Given the description of an element on the screen output the (x, y) to click on. 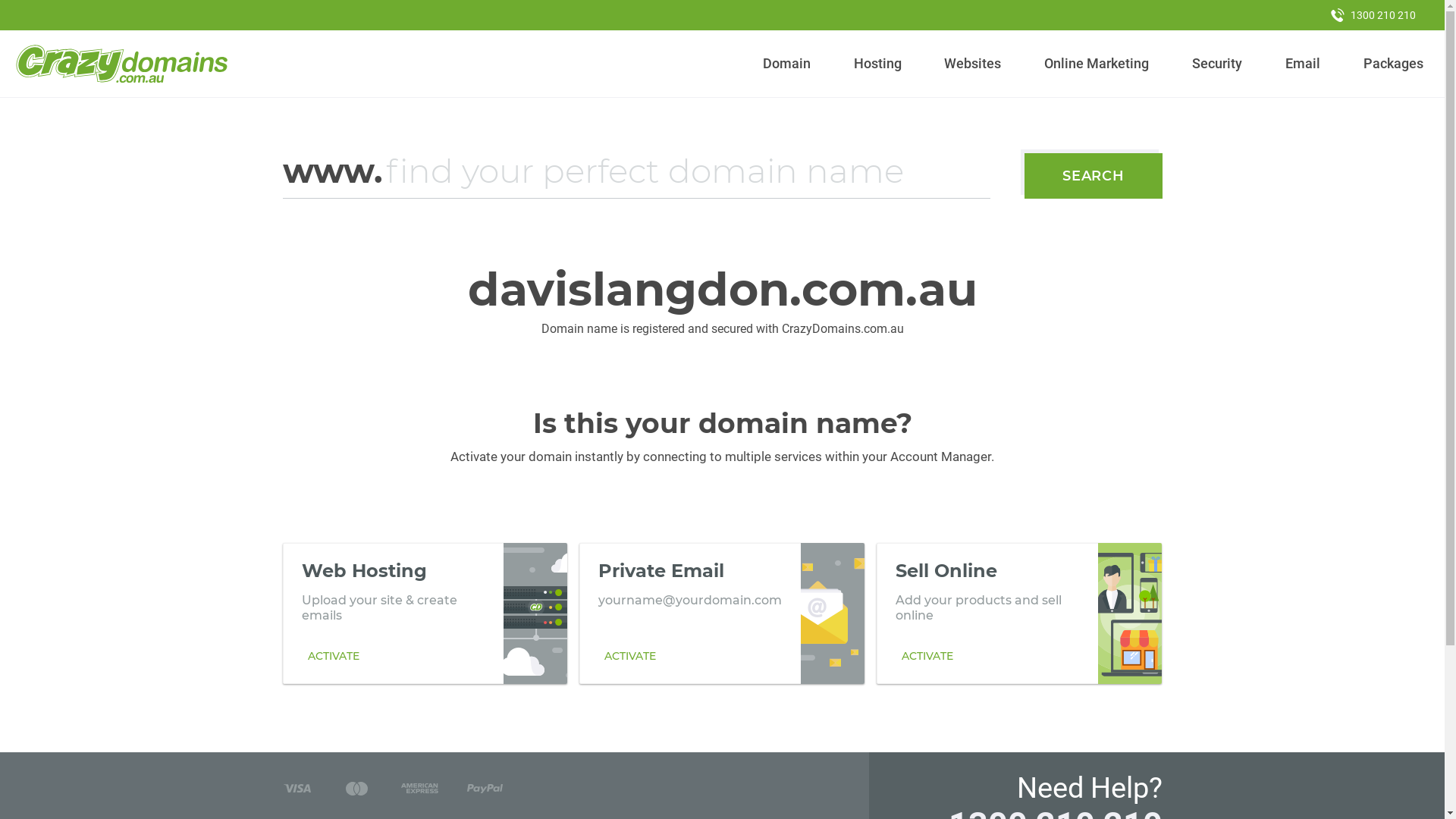
Web Hosting
Upload your site & create emails
ACTIVATE Element type: text (424, 613)
Websites Element type: text (972, 63)
Email Element type: text (1302, 63)
1300 210 210 Element type: text (1373, 15)
Sell Online
Add your products and sell online
ACTIVATE Element type: text (1018, 613)
Security Element type: text (1217, 63)
Private Email
yourname@yourdomain.com
ACTIVATE Element type: text (721, 613)
SEARCH Element type: text (1092, 175)
Domain Element type: text (786, 63)
Online Marketing Element type: text (1096, 63)
Hosting Element type: text (877, 63)
Packages Element type: text (1392, 63)
